Given the description of an element on the screen output the (x, y) to click on. 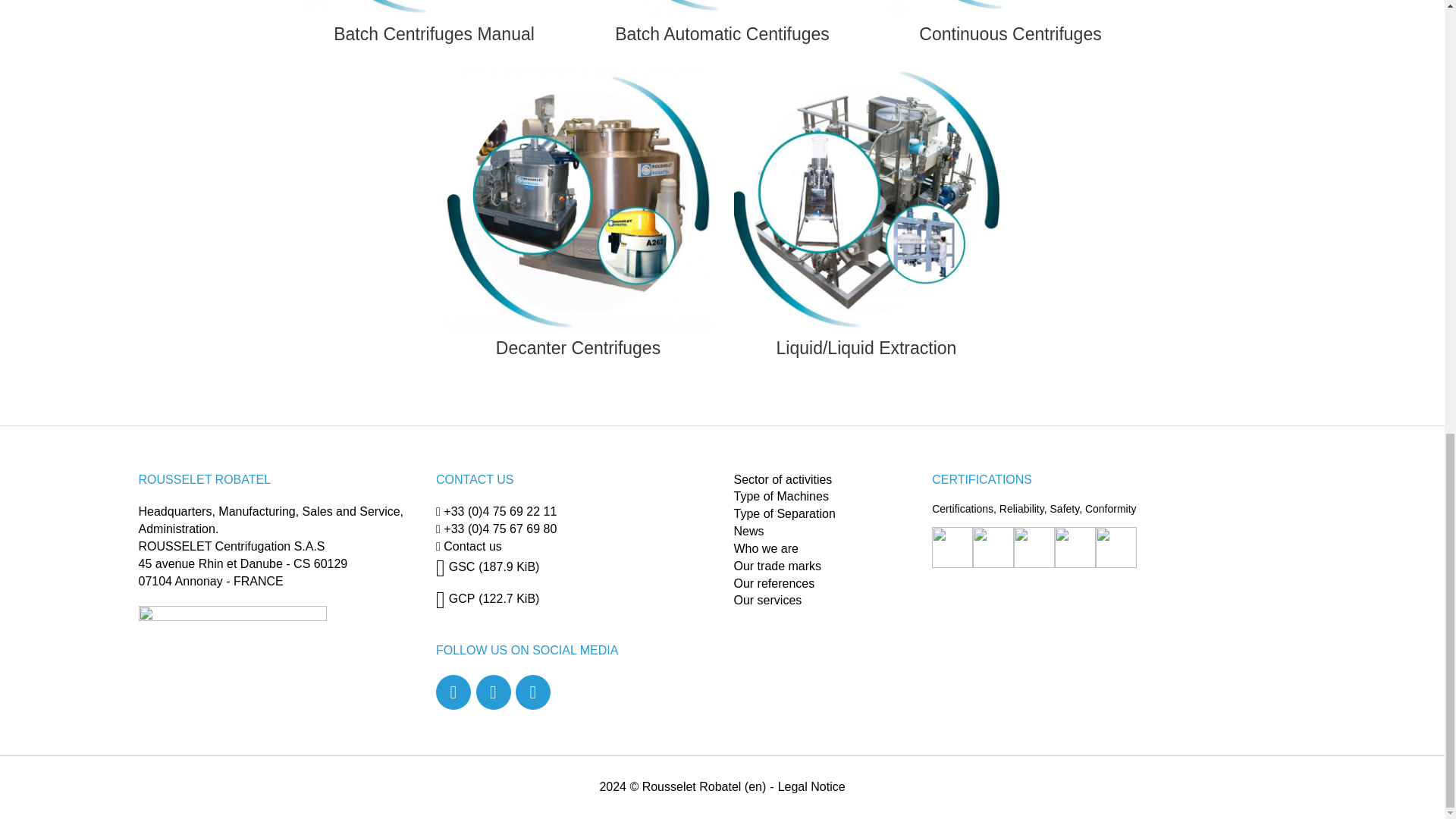
News (748, 530)
Download GENERAL SALES CONDITIONS.pdf (486, 566)
Download CONDITIONS GENERALES D'ACHAT.pdf (486, 598)
Who we are (765, 548)
